Given the description of an element on the screen output the (x, y) to click on. 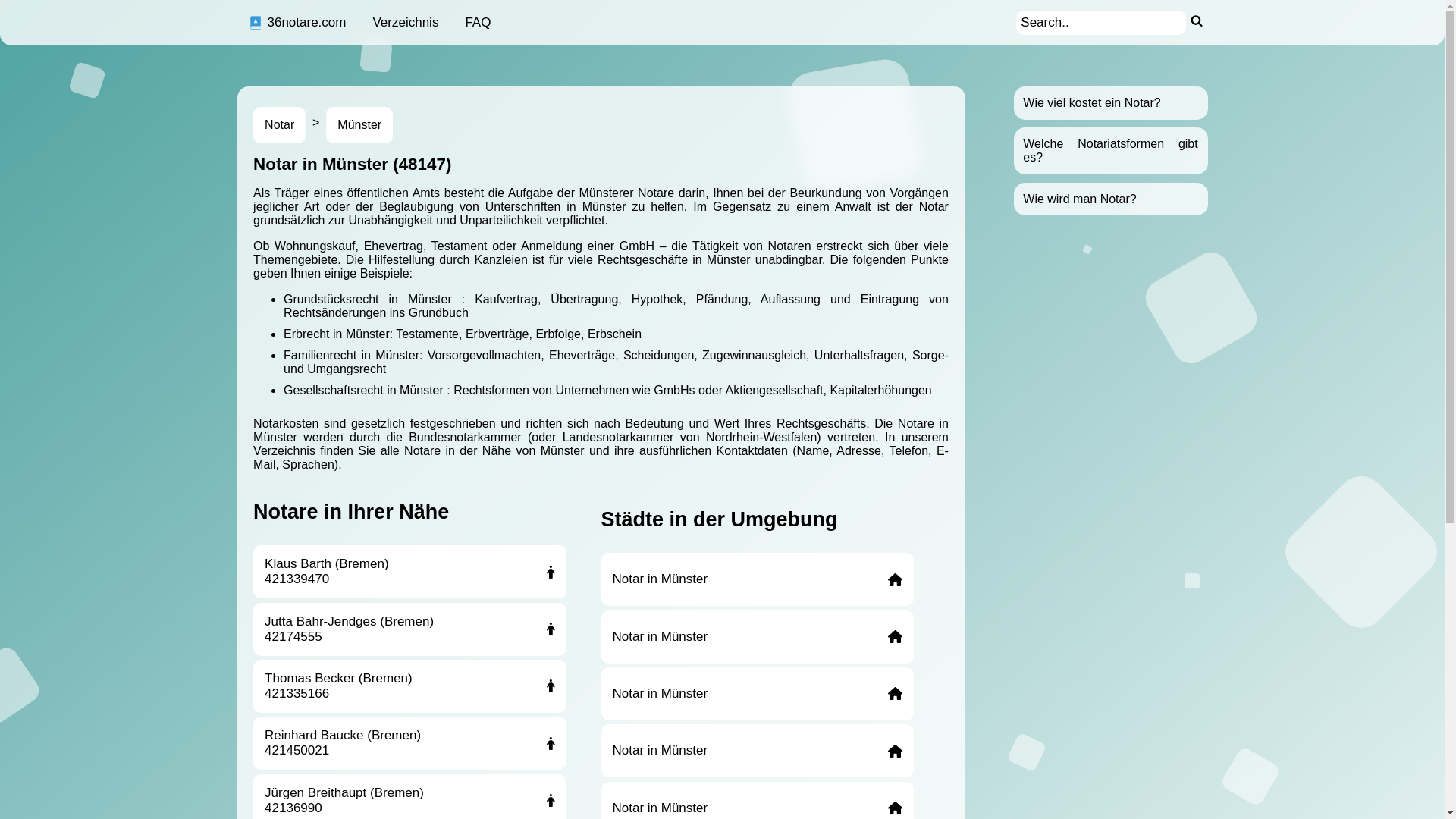
Klaus Barth (Bremen)
421339470 Element type: text (409, 571)
Wie viel kostet ein Notar? Element type: text (1091, 102)
Notar Element type: text (279, 124)
Jutta Bahr-Jendges (Bremen)
42174555 Element type: text (409, 628)
Thomas Becker (Bremen)
421335166 Element type: text (409, 685)
36notare.com Element type: text (296, 22)
Verzeichnis Element type: text (404, 22)
FAQ Element type: text (477, 22)
Reinhard Baucke (Bremen)
421450021 Element type: text (409, 742)
Welche Notariatsformen gibt es? Element type: text (1109, 150)
Wie wird man Notar? Element type: text (1078, 198)
